Given the description of an element on the screen output the (x, y) to click on. 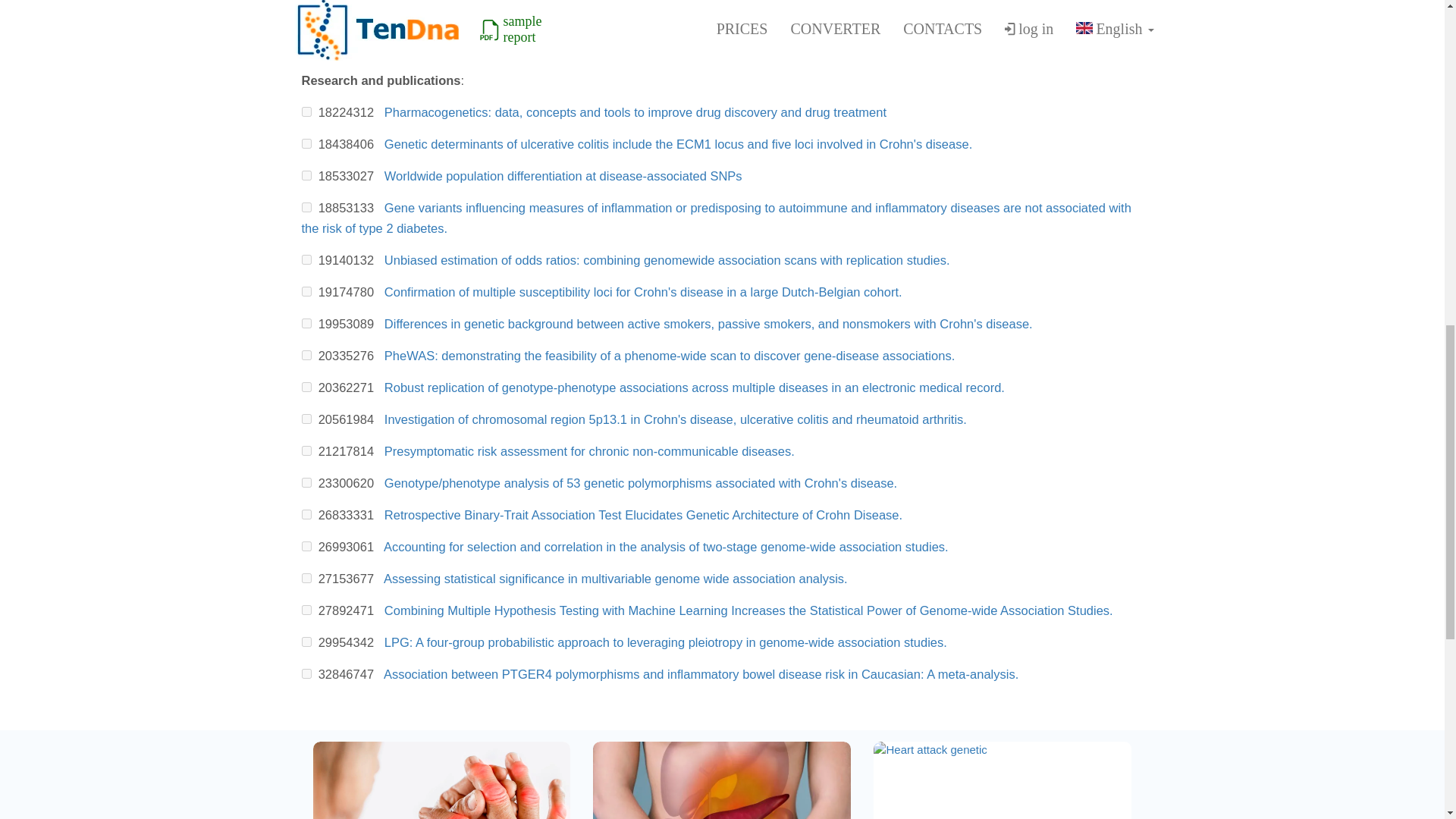
26833331 (306, 514)
23300620 (306, 482)
18438406 (306, 143)
18224312 (306, 112)
18533027 (306, 175)
18853133 (306, 207)
